Given the description of an element on the screen output the (x, y) to click on. 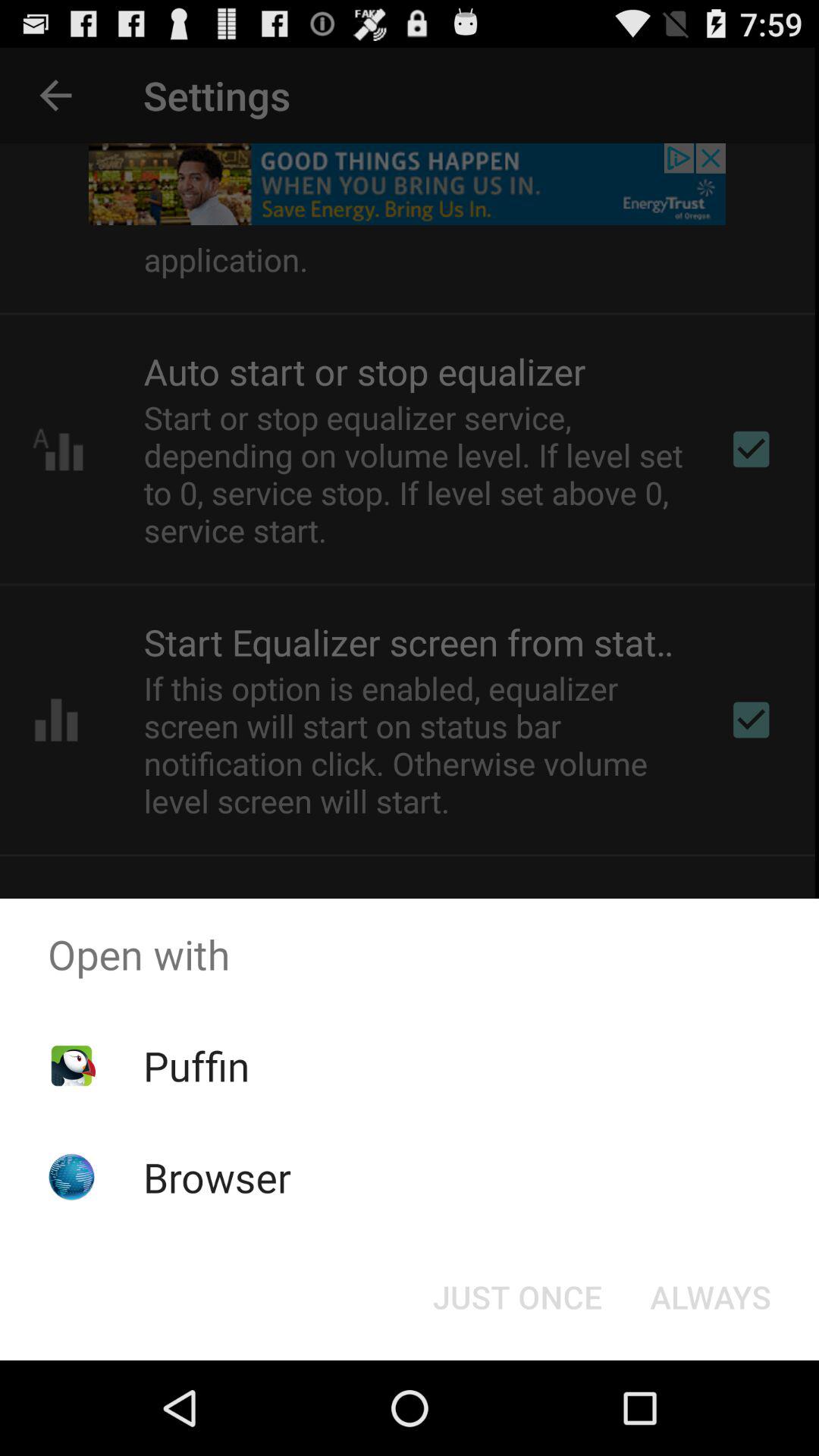
tap just once icon (517, 1296)
